Given the description of an element on the screen output the (x, y) to click on. 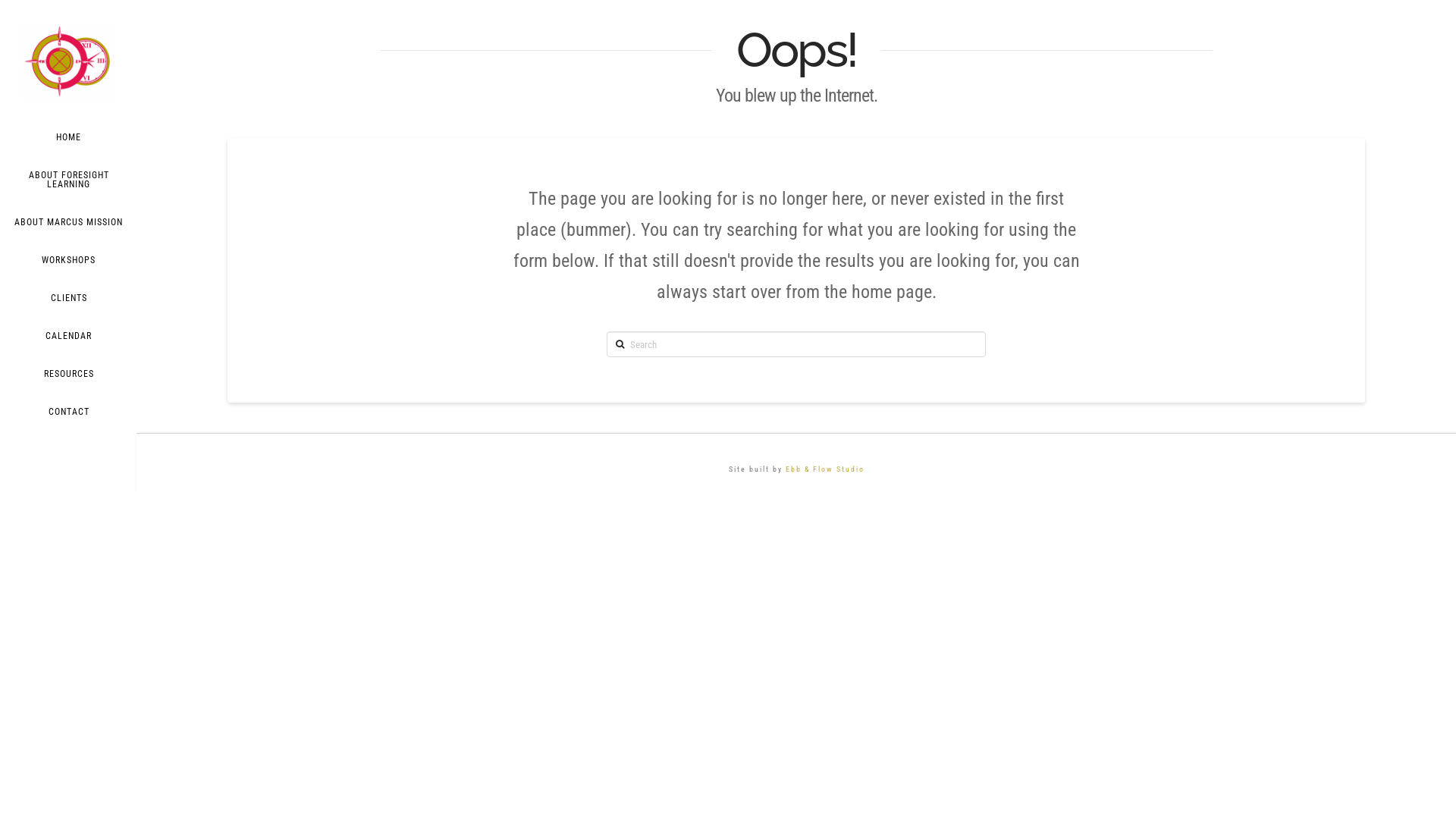
ABOUT FORESIGHT LEARNING Element type: text (68, 179)
RESOURCES Element type: text (68, 373)
CALENDAR Element type: text (68, 335)
CONTACT Element type: text (68, 411)
CLIENTS Element type: text (68, 297)
WORKSHOPS Element type: text (68, 260)
ABOUT MARCUS MISSION Element type: text (68, 222)
HOME Element type: text (68, 137)
Ebb & Flow Studio Element type: text (824, 468)
